Given the description of an element on the screen output the (x, y) to click on. 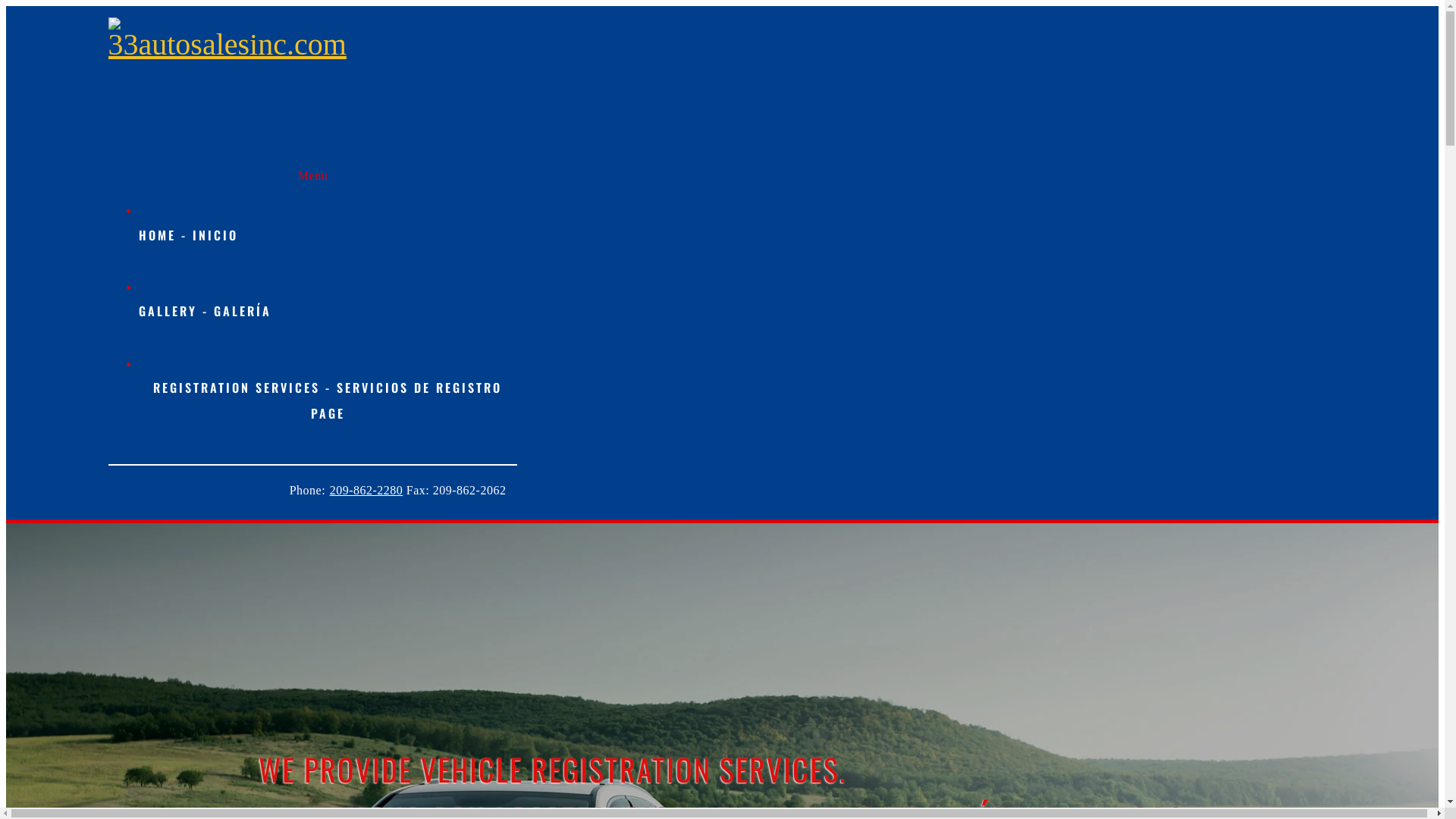
Go to site home page Element type: hover (226, 44)
Go to site home page Element type: hover (226, 38)
REGISTRATION SERVICES - SERVICIOS DE REGISTRO PAGE Element type: text (327, 401)
209-862-2280 Element type: text (366, 489)
HOME - INICIO Element type: text (327, 235)
